Given the description of an element on the screen output the (x, y) to click on. 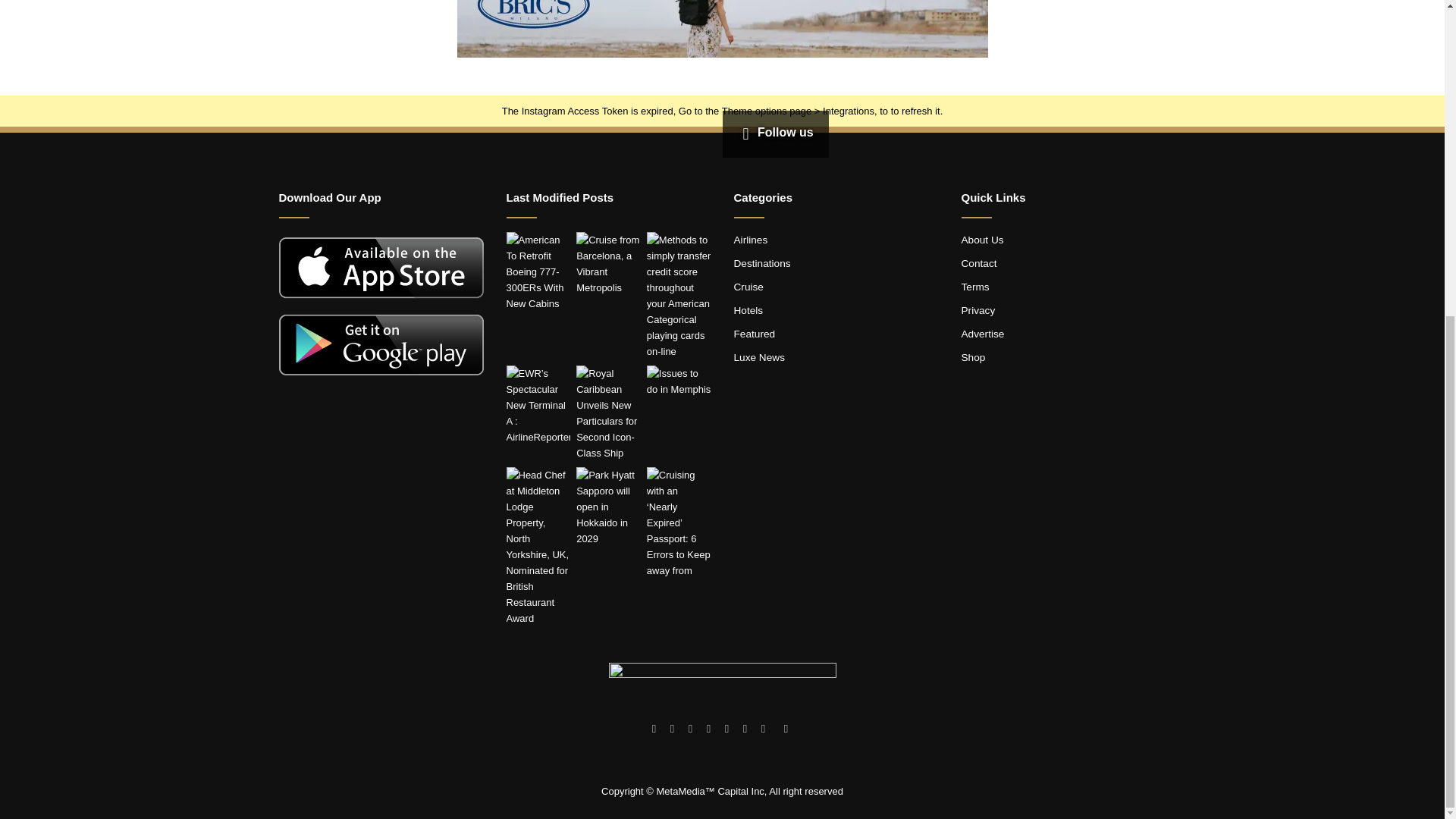
Cruise (747, 286)
Cruise from Barcelona, a Vibrant Metropolis (608, 263)
Featured (754, 333)
Airlines (750, 239)
Issues to do in Memphis (678, 381)
Destinations (761, 263)
Hotels (747, 310)
Follow us (774, 132)
Follow us (774, 132)
